Given the description of an element on the screen output the (x, y) to click on. 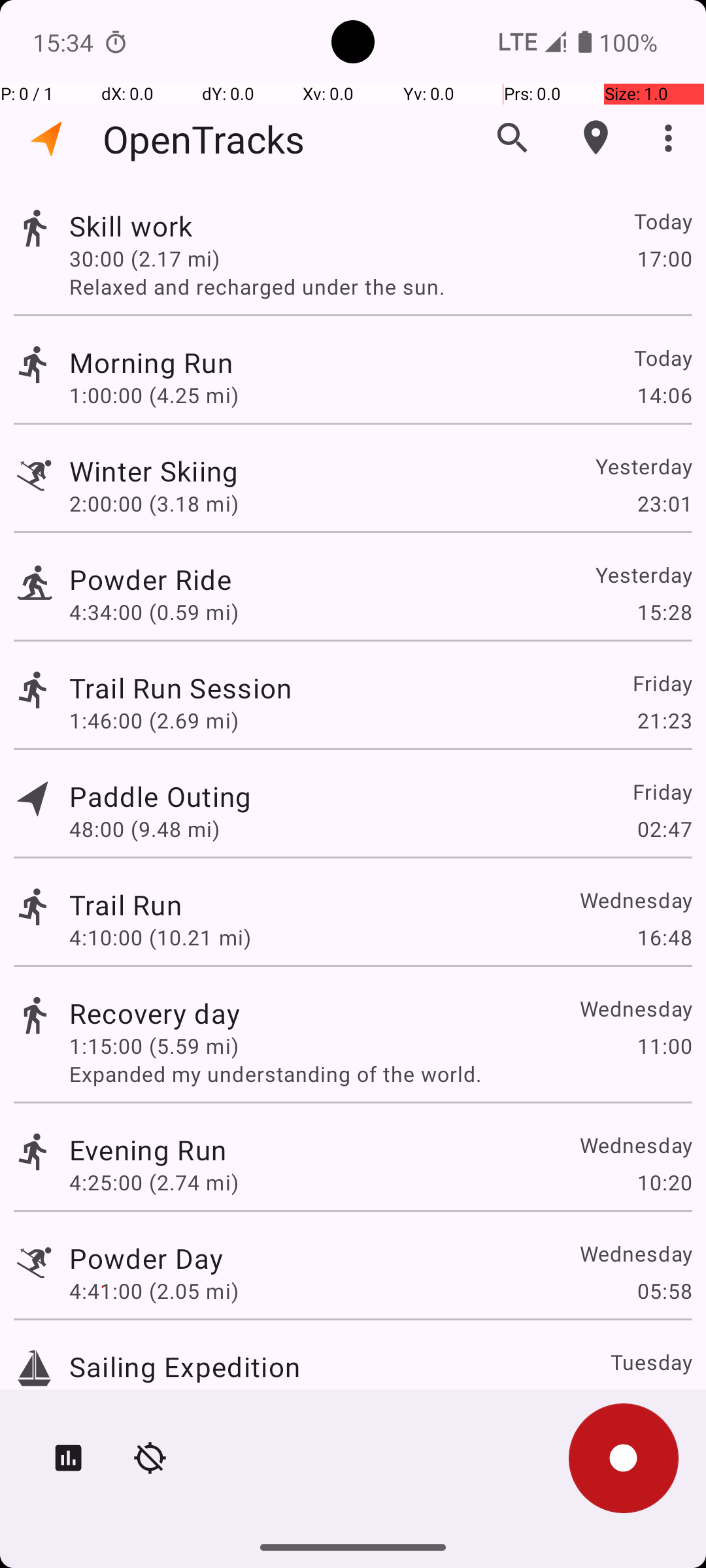
Skill work Element type: android.widget.TextView (130, 225)
30:00 (2.17 mi) Element type: android.widget.TextView (144, 258)
Relaxed and recharged under the sun. Element type: android.widget.TextView (380, 286)
Morning Run Element type: android.widget.TextView (150, 361)
1:00:00 (4.25 mi) Element type: android.widget.TextView (153, 394)
14:06 Element type: android.widget.TextView (664, 394)
Winter Skiing Element type: android.widget.TextView (153, 470)
2:00:00 (3.18 mi) Element type: android.widget.TextView (153, 503)
23:01 Element type: android.widget.TextView (664, 503)
Powder Ride Element type: android.widget.TextView (150, 578)
4:34:00 (0.59 mi) Element type: android.widget.TextView (153, 611)
15:28 Element type: android.widget.TextView (664, 611)
Trail Run Session Element type: android.widget.TextView (180, 687)
1:46:00 (2.69 mi) Element type: android.widget.TextView (153, 720)
21:23 Element type: android.widget.TextView (664, 720)
Paddle Outing Element type: android.widget.TextView (159, 795)
48:00 (9.48 mi) Element type: android.widget.TextView (144, 828)
02:47 Element type: android.widget.TextView (664, 828)
Trail Run Element type: android.widget.TextView (125, 904)
4:10:00 (10.21 mi) Element type: android.widget.TextView (159, 937)
16:48 Element type: android.widget.TextView (664, 937)
Recovery day Element type: android.widget.TextView (154, 1012)
1:15:00 (5.59 mi) Element type: android.widget.TextView (153, 1045)
Expanded my understanding of the world. Element type: android.widget.TextView (380, 1073)
Evening Run Element type: android.widget.TextView (147, 1149)
4:25:00 (2.74 mi) Element type: android.widget.TextView (153, 1182)
10:20 Element type: android.widget.TextView (664, 1182)
Powder Day Element type: android.widget.TextView (145, 1257)
4:41:00 (2.05 mi) Element type: android.widget.TextView (153, 1290)
05:58 Element type: android.widget.TextView (664, 1290)
Sailing Expedition Element type: android.widget.TextView (184, 1366)
2:55:00 (11.63 mi) Element type: android.widget.TextView (159, 1399)
